Given the description of an element on the screen output the (x, y) to click on. 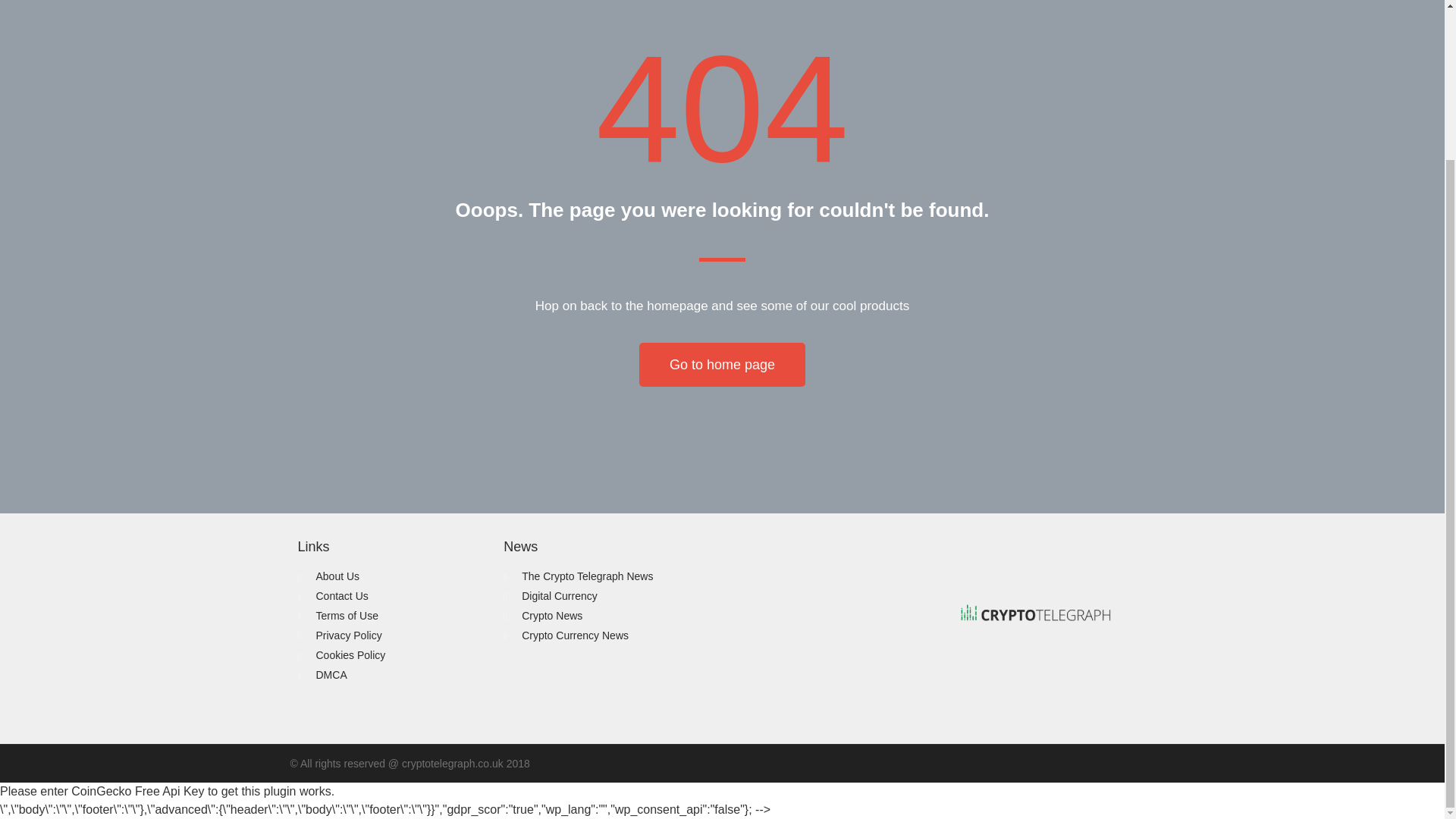
Crypto News (707, 616)
Go to home page (722, 364)
Privacy Policy (392, 635)
Terms of Use (392, 616)
Digital Currency (707, 596)
DMCA (392, 675)
About Us (392, 576)
The Crypto Telegraph News (707, 576)
Cookies Policy (392, 655)
Crypto Currency News (707, 635)
